Given the description of an element on the screen output the (x, y) to click on. 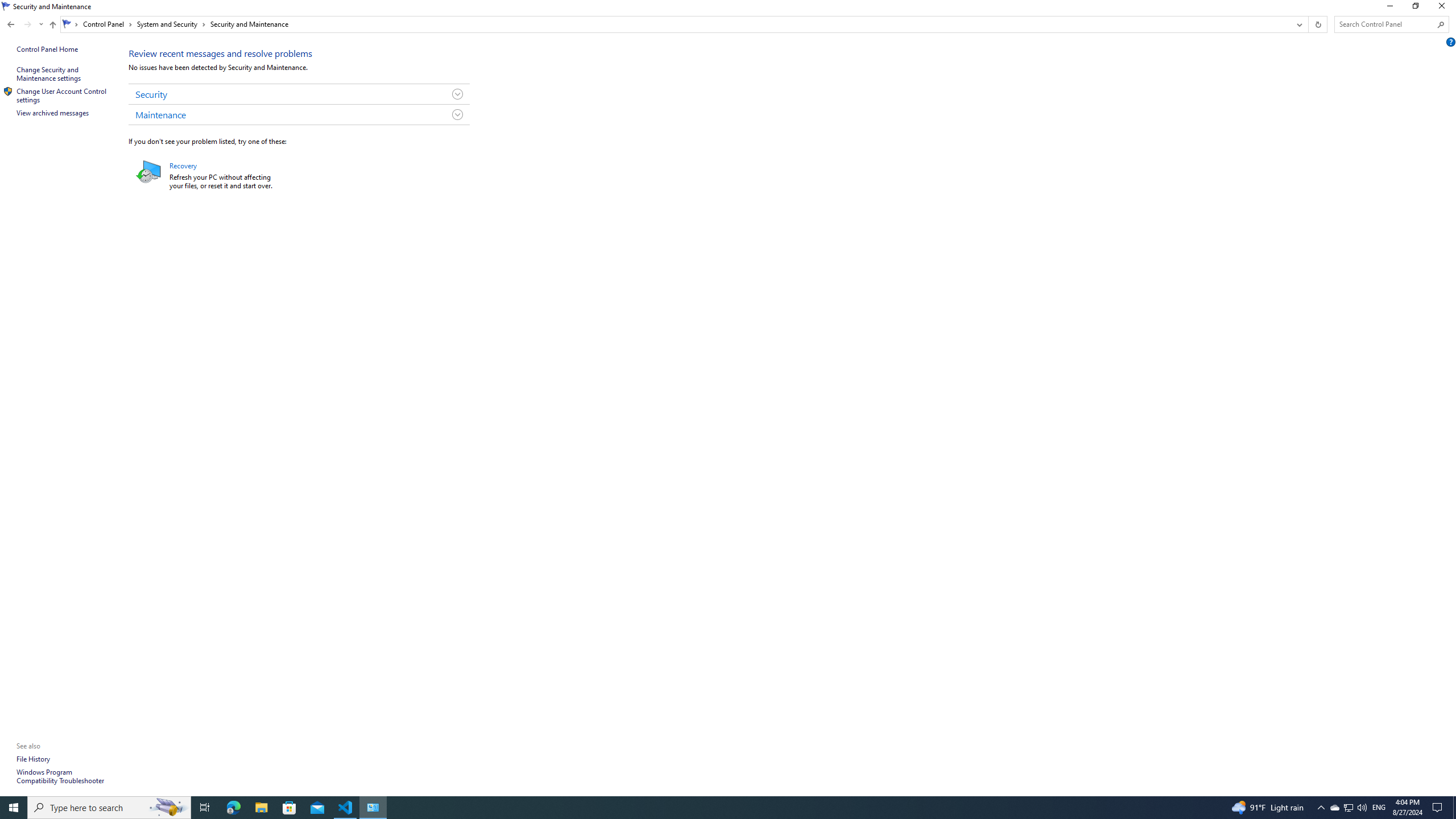
Control Panel - 1 running window (373, 807)
Back to System and Security (Alt + Left Arrow) (10, 23)
Control Panel (107, 23)
